Given the description of an element on the screen output the (x, y) to click on. 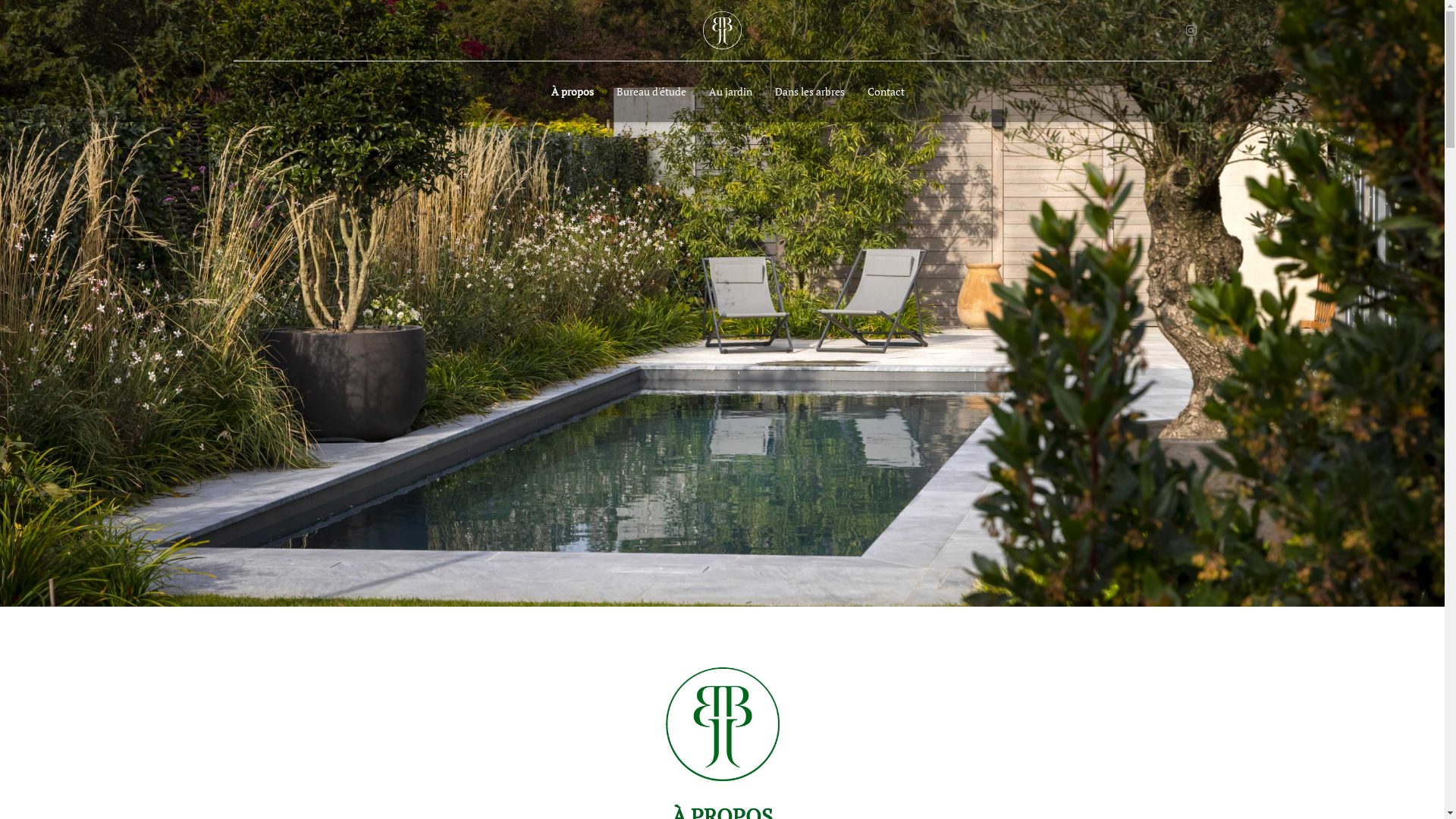
Dans les arbres Element type: text (809, 91)
Au jardin Element type: text (730, 91)
Contact Element type: text (880, 91)
